Given the description of an element on the screen output the (x, y) to click on. 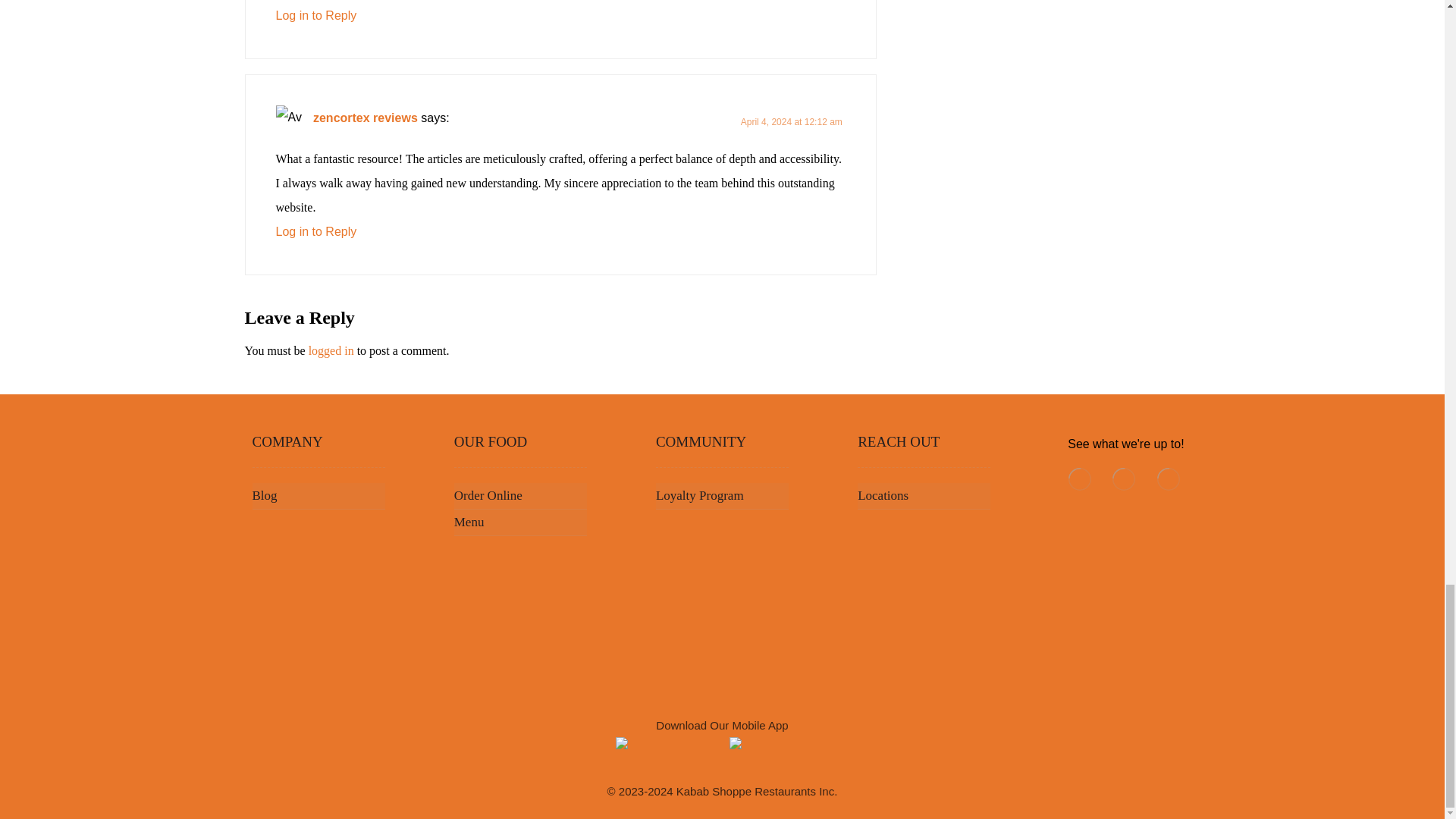
Log in to Reply (316, 15)
zencortex reviews (365, 117)
logged in (330, 350)
April 4, 2024 at 12:12 am (792, 122)
Log in to Reply (316, 231)
Gravatar for kababadmin (289, 118)
